Given the description of an element on the screen output the (x, y) to click on. 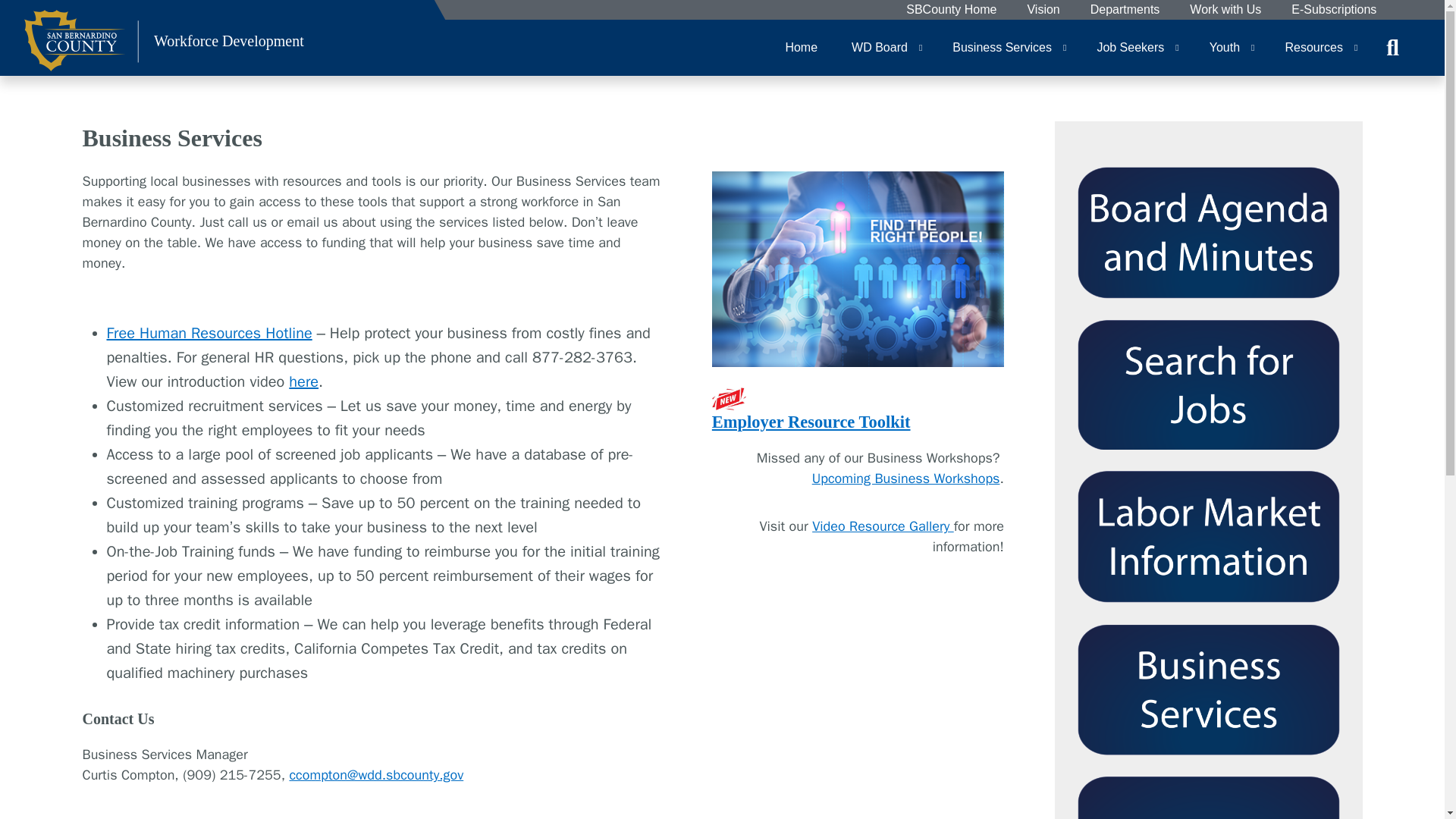
Countywide Vision (1042, 10)
E-Subscriptions (1333, 10)
San Bernardino County Website (950, 10)
Working in San Bernardino County (1224, 10)
San Bernardino County Contact Departments (1125, 10)
Workforce Development (164, 47)
